Given the description of an element on the screen output the (x, y) to click on. 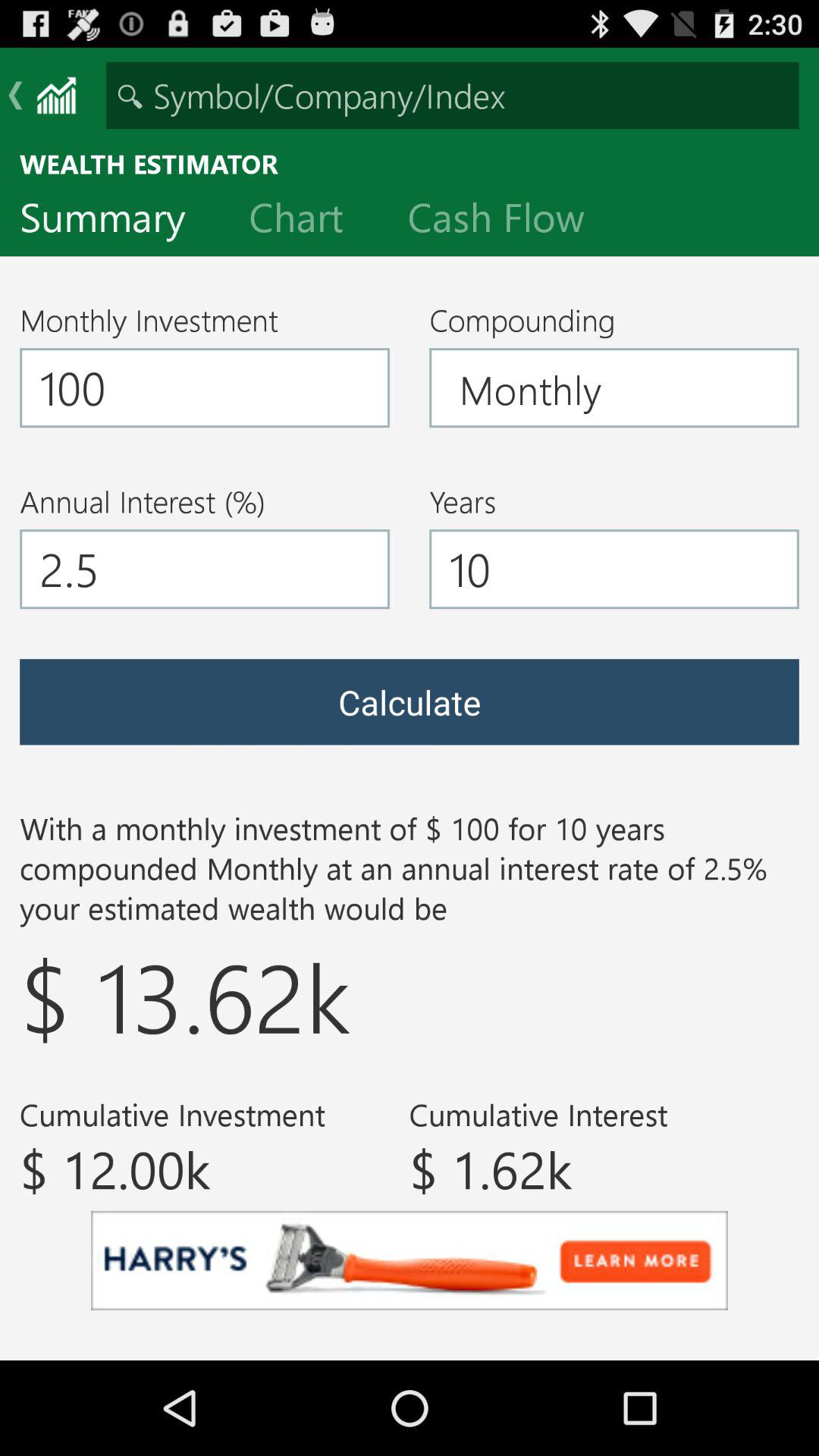
jump until the chart icon (308, 220)
